Given the description of an element on the screen output the (x, y) to click on. 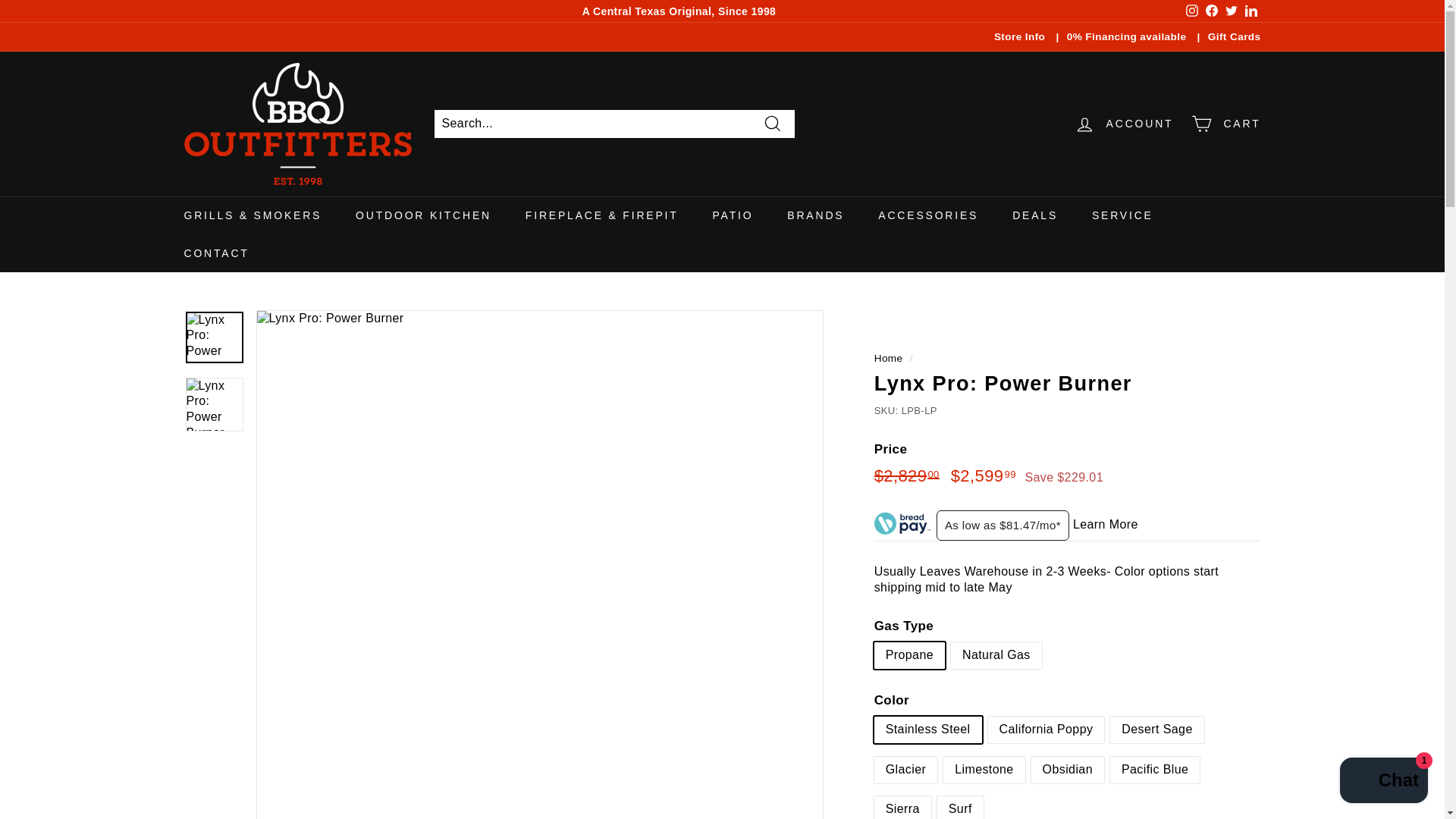
BBQ Outfitters on LinkedIn (1250, 11)
BBQ Outfitters on Instagram (1190, 11)
LinkedIn (1250, 11)
Instagram (1190, 11)
Twitter (1230, 11)
Facebook (1211, 11)
ACCOUNT (1123, 123)
